Given the description of an element on the screen output the (x, y) to click on. 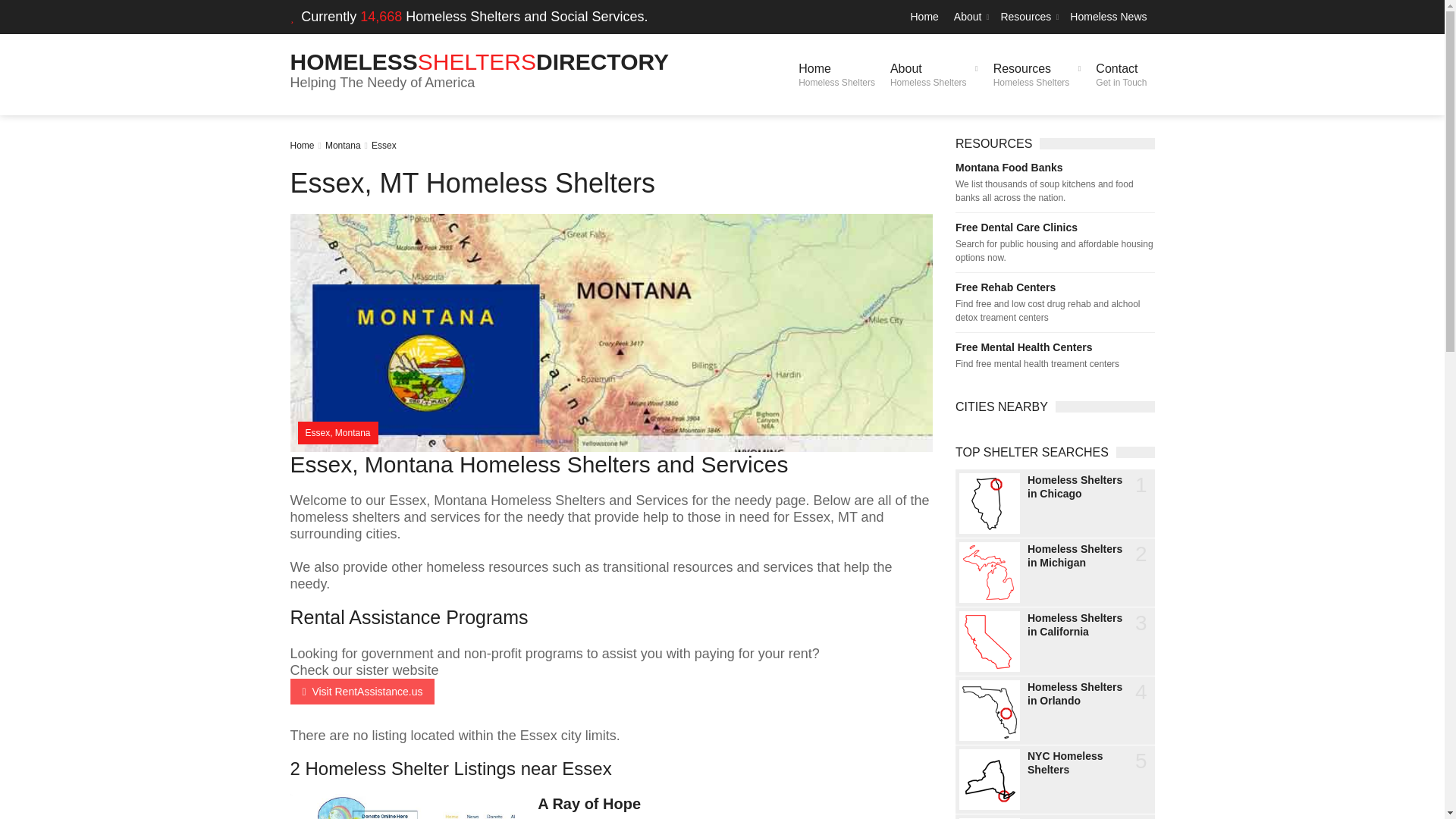
Montana Food Banks (1054, 167)
A Ray of Hope (1120, 74)
Resources (588, 803)
  Visit RentAssistance.us (1027, 17)
Free Dental Care Clinics (933, 74)
Home (361, 691)
Home (1054, 227)
HOMELESSSHELTERSDIRECTORY (301, 145)
Homeless News (923, 17)
Montana (478, 61)
Free Rehab Centers (1108, 17)
About (836, 74)
